Given the description of an element on the screen output the (x, y) to click on. 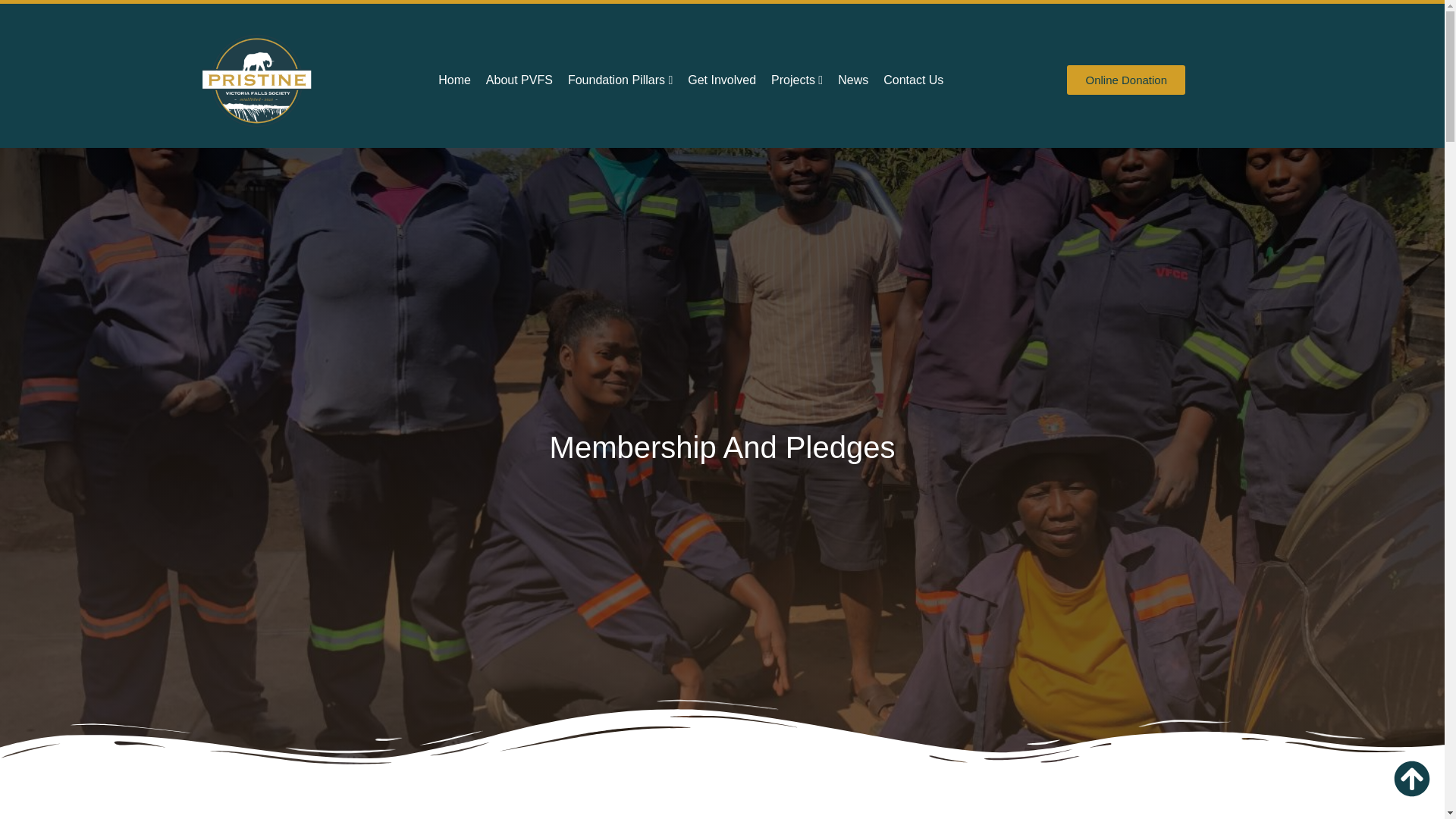
Foundation Pillars (620, 80)
Home (453, 80)
About PVFS (518, 80)
